Given the description of an element on the screen output the (x, y) to click on. 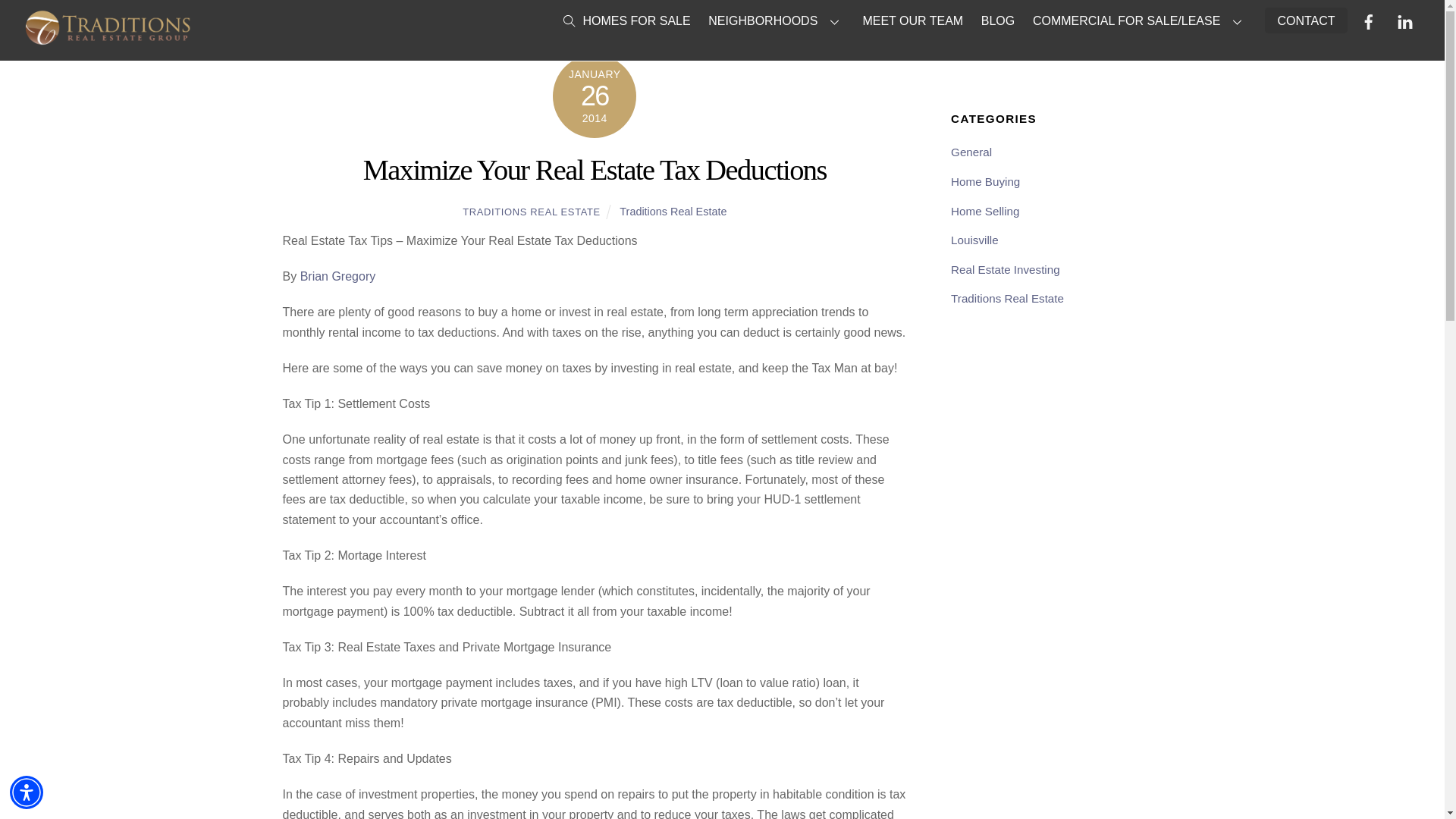
Traditions Real Estate (673, 211)
CONTACT (1305, 20)
TRADITIONS REAL ESTATE (531, 211)
Traditions Real Estate Group (106, 39)
Maximize Your Real Estate Tax Deductions (594, 169)
BLOG (998, 21)
Accessibility Menu (26, 792)
MEET OUR TEAM (913, 21)
NEIGHBORHOODS (776, 21)
Brian Gregory (337, 276)
